Given the description of an element on the screen output the (x, y) to click on. 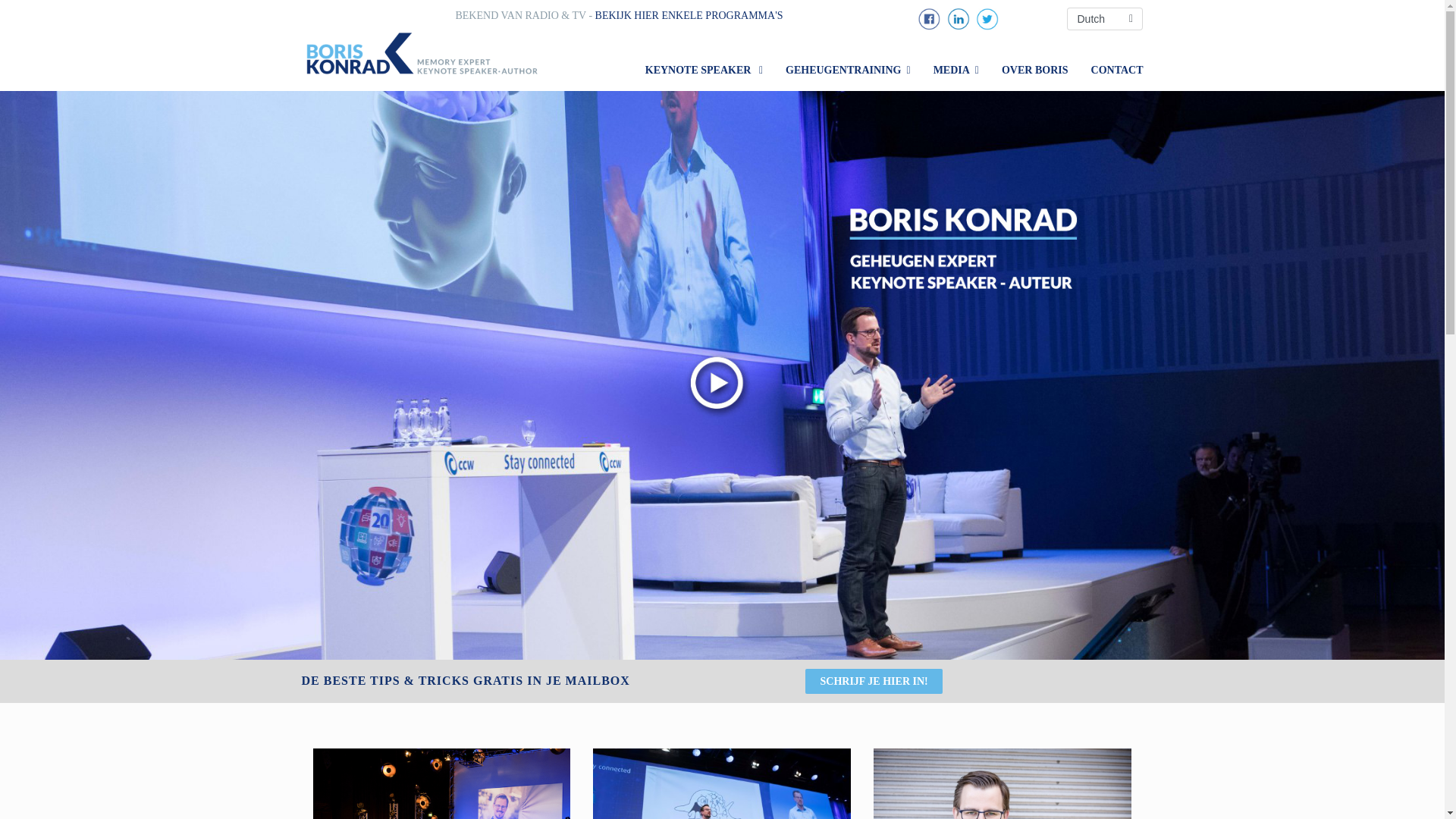
GEHEUGENTRAINING (847, 69)
BEKIJK HIER ENKELE PROGRAMMA'S (689, 15)
KEYNOTE SPEAKER (703, 69)
CONTACT (1117, 69)
Dutch (1104, 18)
OVER BORIS (1035, 69)
MEDIA (955, 69)
SCHRIJF JE HIER IN! (873, 681)
